Given the description of an element on the screen output the (x, y) to click on. 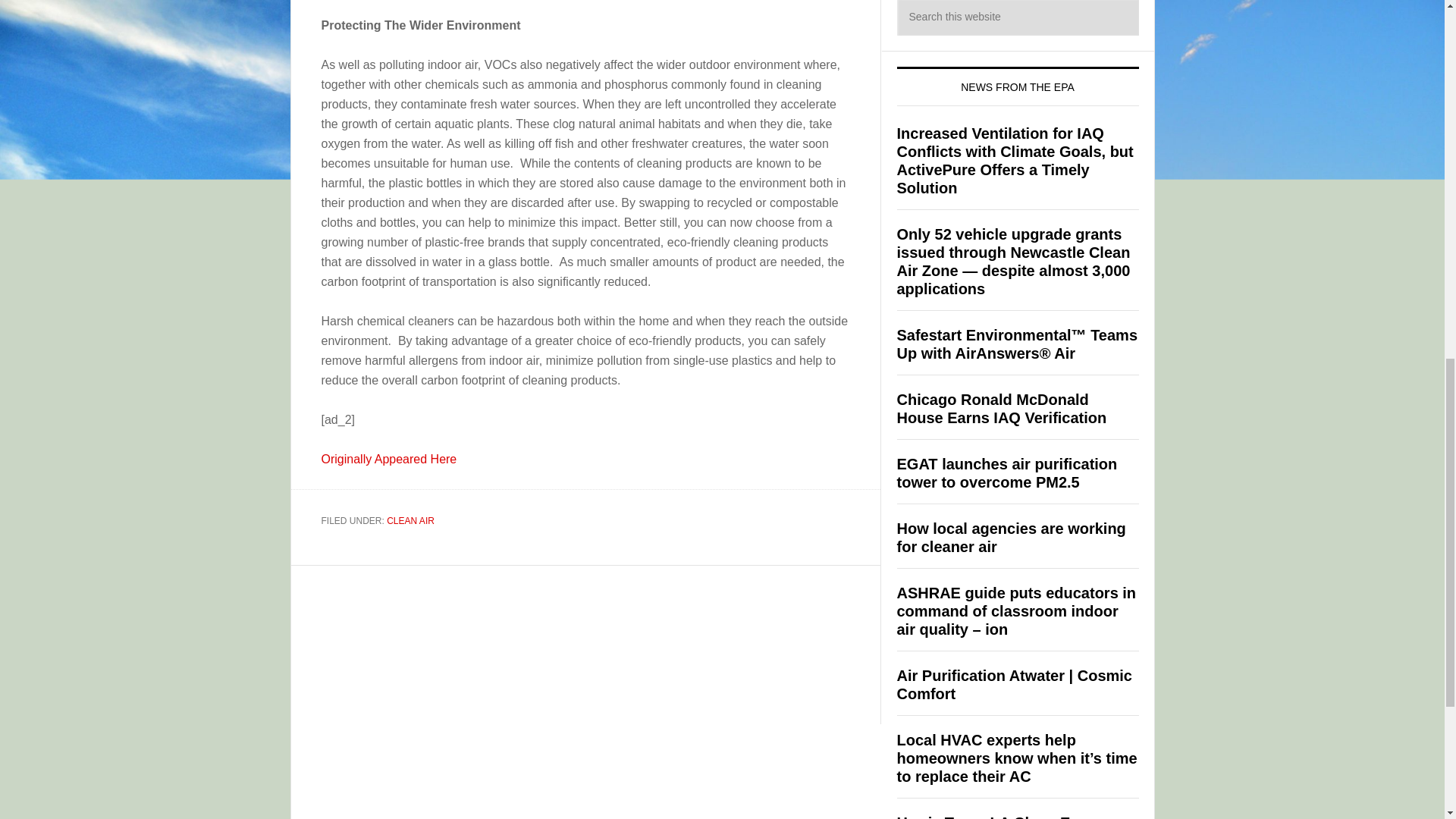
Chicago Ronald McDonald House Earns IAQ Verification (1001, 408)
How local agencies are working for cleaner air (1010, 537)
EGAT launches air purification tower to overcome PM2.5 (1006, 472)
Originally Appeared Here (389, 459)
CLEAN AIR (410, 520)
